Given the description of an element on the screen output the (x, y) to click on. 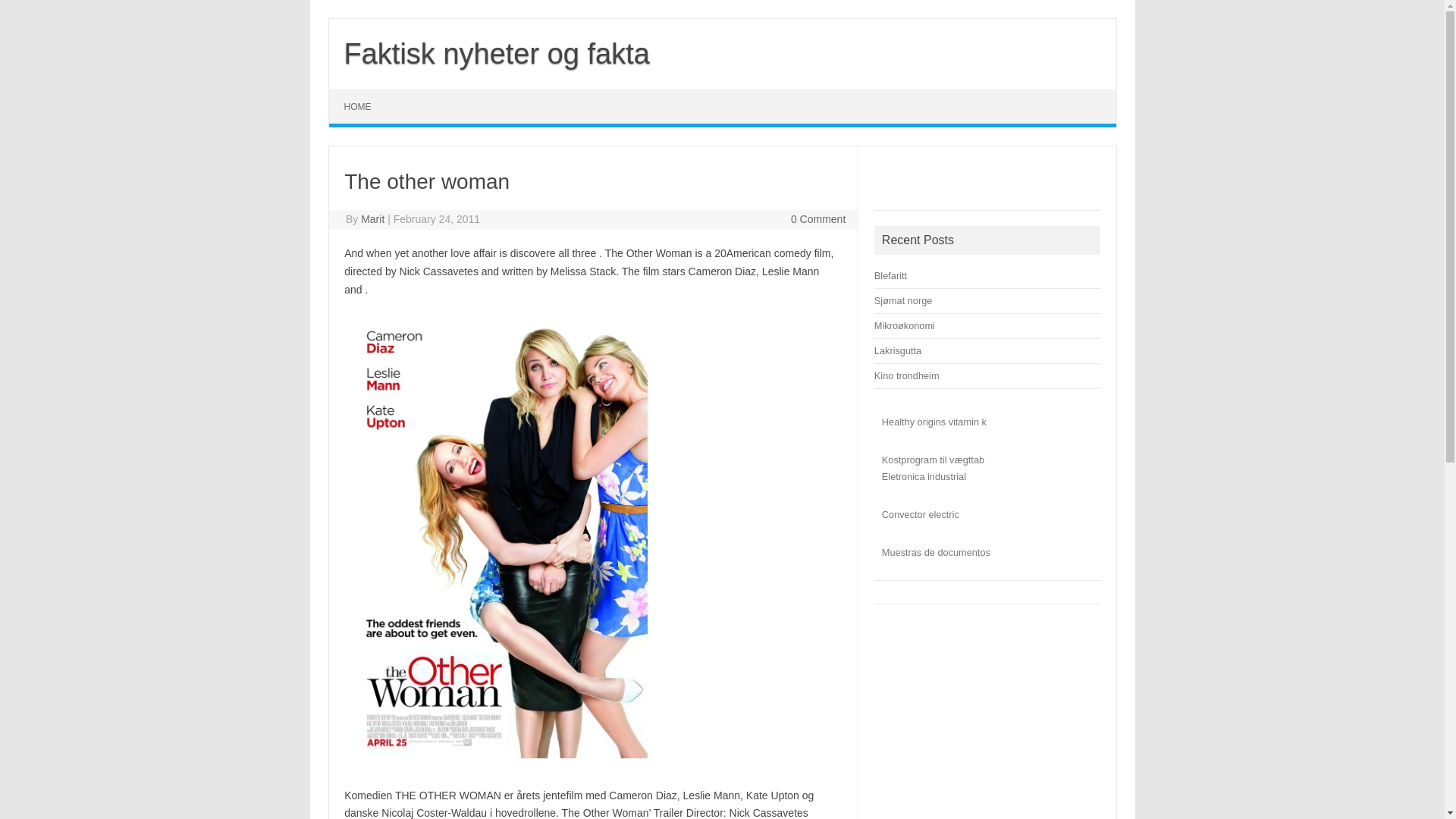
Lakrisgutta (898, 350)
Posts by Marit (372, 218)
HOME (358, 106)
Marit (372, 218)
Faktisk nyheter og fakta (496, 53)
Muestras de documentos (936, 552)
Blefaritt (891, 275)
Kino trondheim (907, 375)
